Given the description of an element on the screen output the (x, y) to click on. 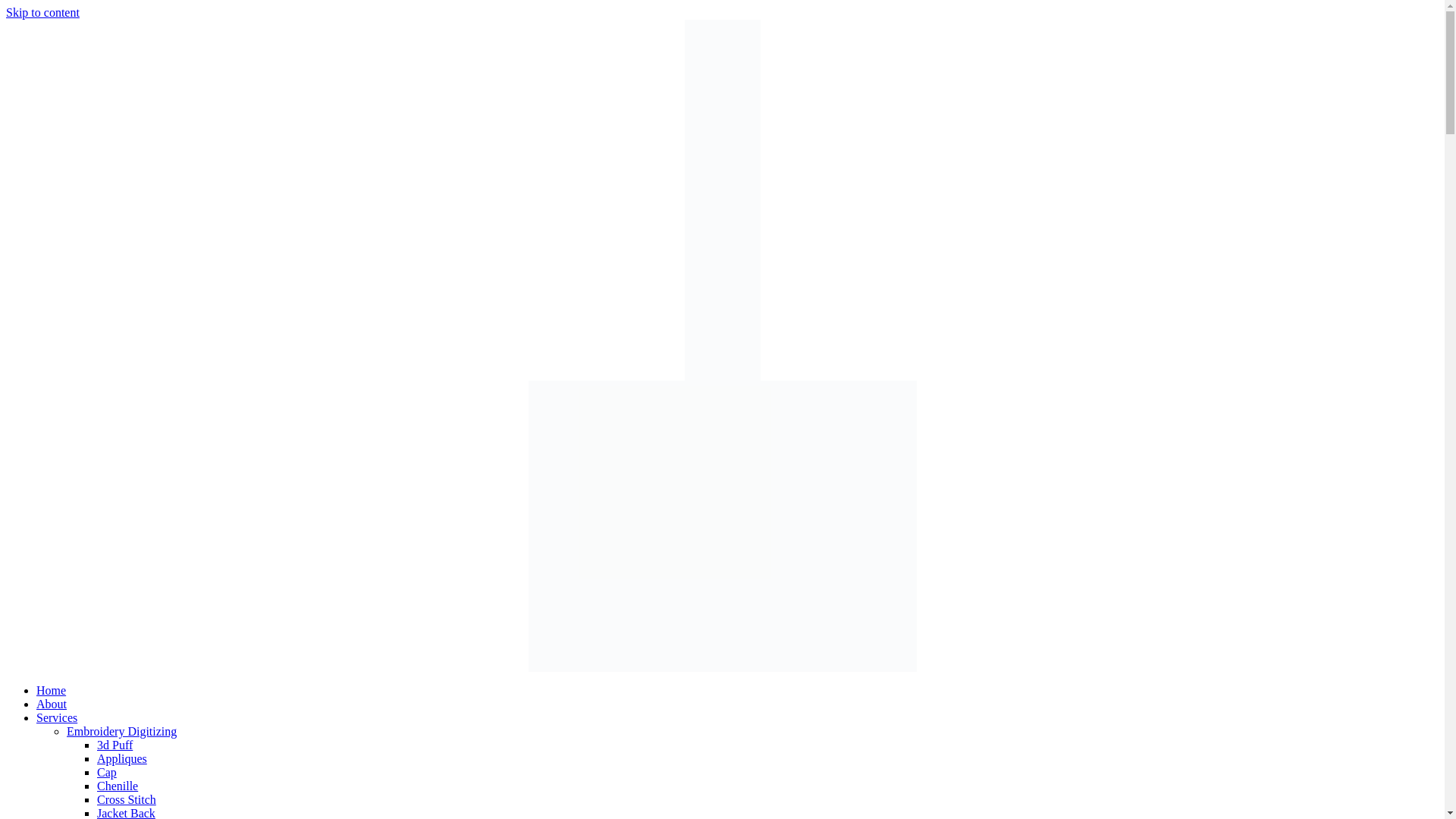
Services (56, 717)
Embroidery Digitizing (121, 730)
Jacket Back (126, 812)
Chenille (117, 785)
Skip to content (42, 11)
Cap (106, 771)
About (51, 703)
Cross Stitch (126, 799)
3d Puff (114, 744)
Appliques (122, 758)
Home (50, 689)
